Given the description of an element on the screen output the (x, y) to click on. 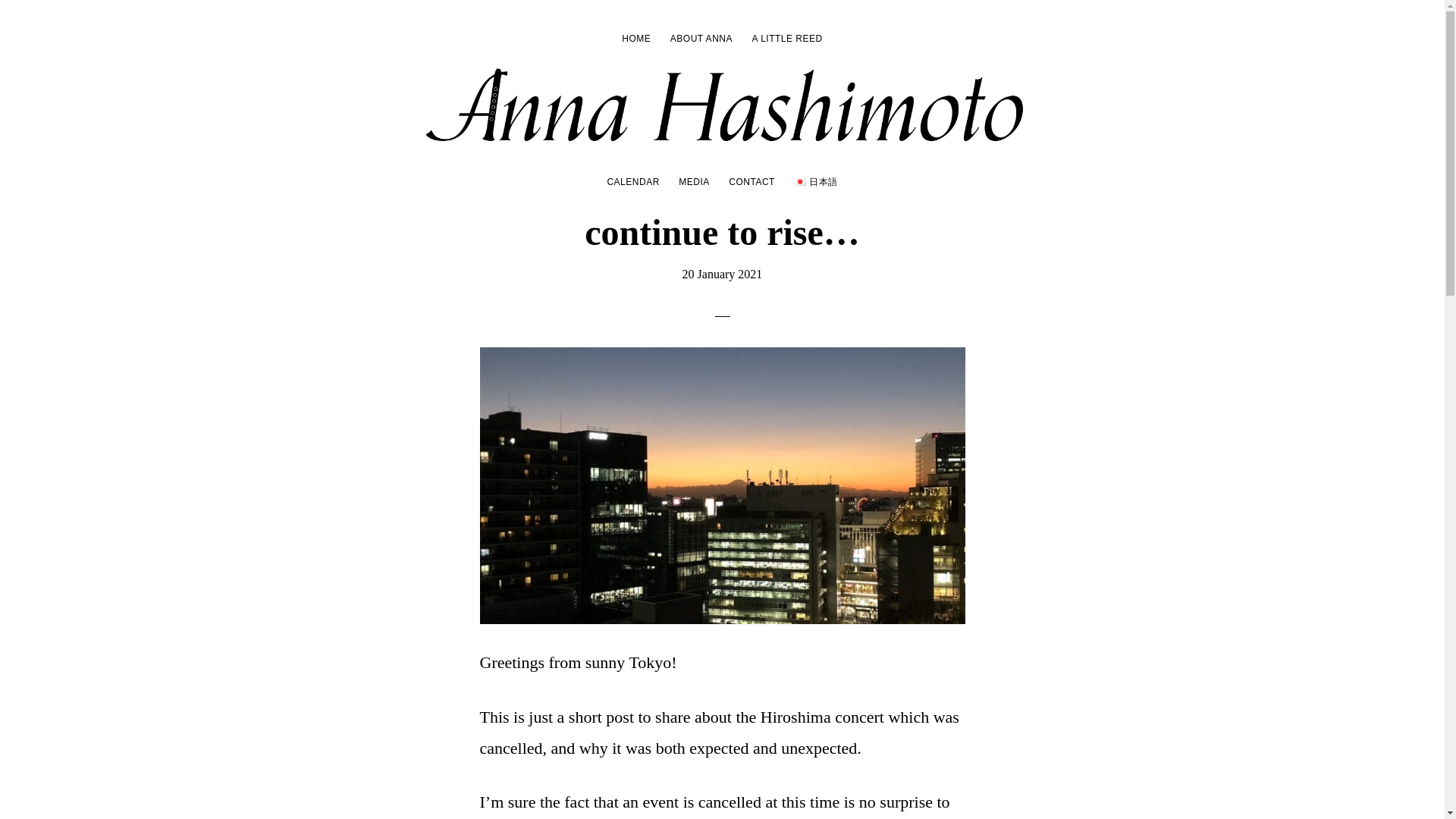
MEDIA (694, 180)
Home (617, 101)
News (650, 101)
HOME (636, 37)
A LITTLE REED (786, 37)
CALENDAR (632, 180)
CONTACT (751, 180)
ABOUT ANNA (700, 37)
